Given the description of an element on the screen output the (x, y) to click on. 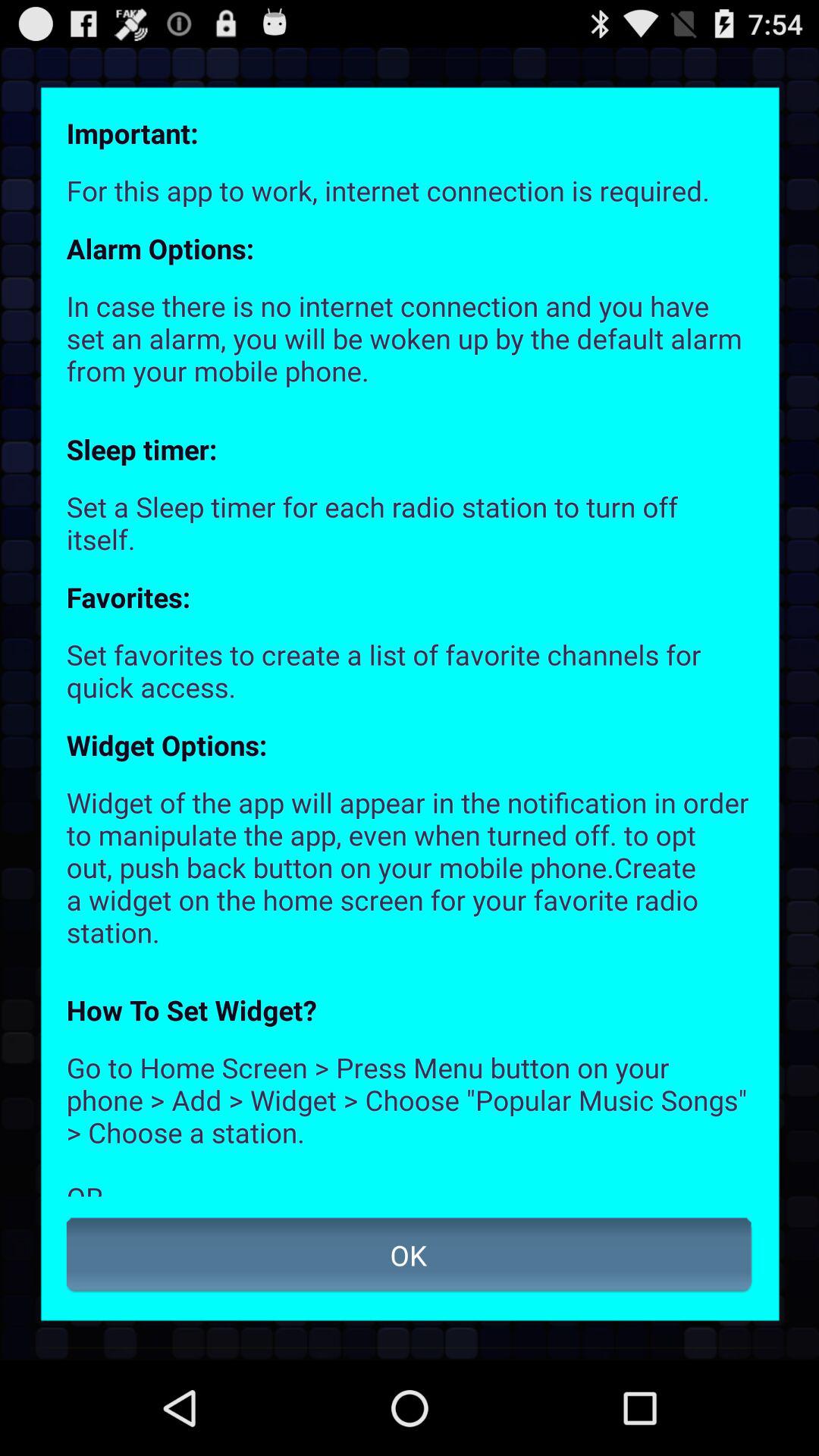
click on ok button (409, 1254)
